Given the description of an element on the screen output the (x, y) to click on. 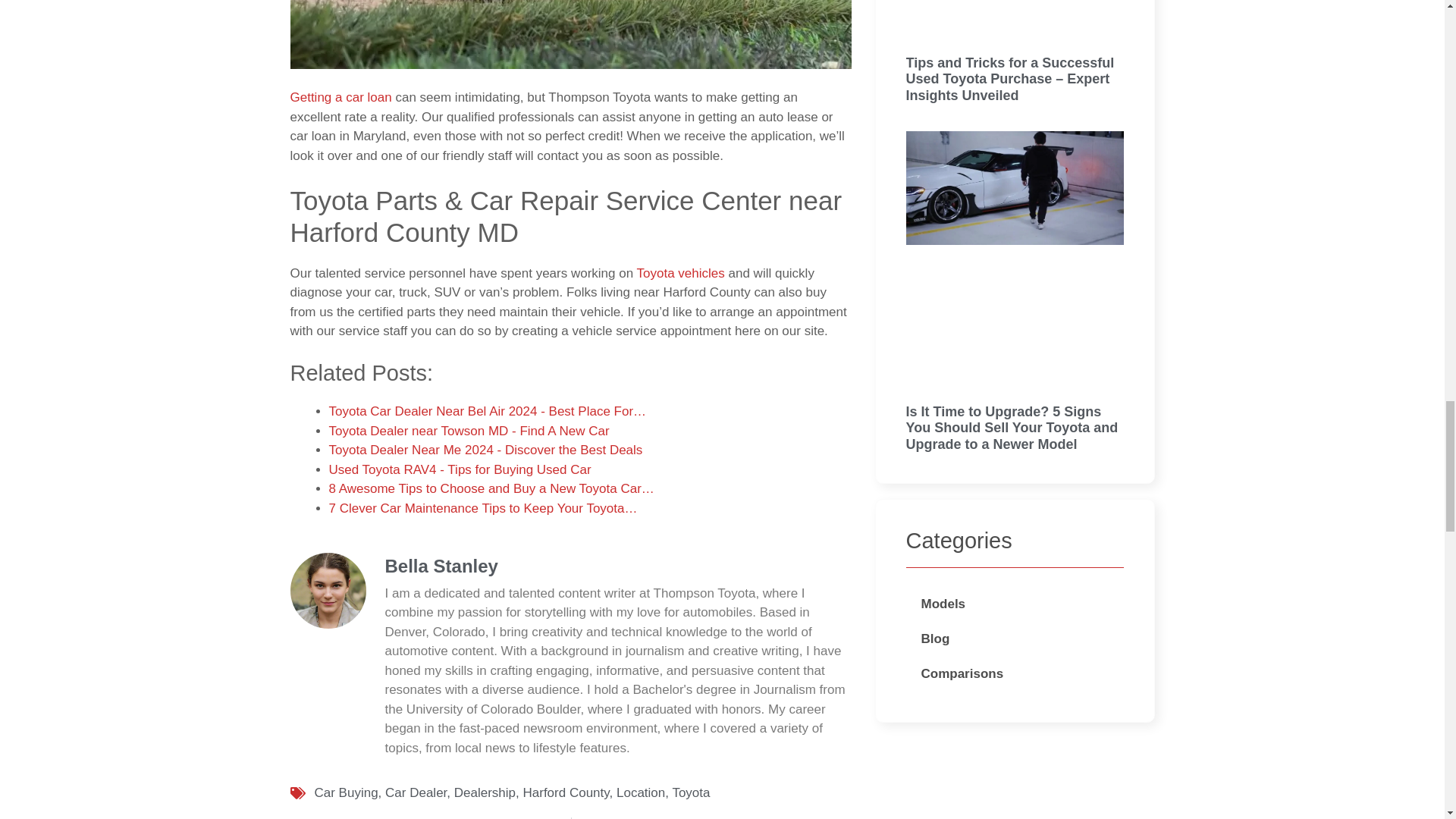
Location (640, 792)
Car Dealer (415, 792)
Toyota (690, 792)
Used Toyota RAV4 - Tips for Buying Used Car (460, 469)
Car Buying (345, 792)
Toyota Dealer near Towson MD - Find A New Car (469, 431)
Dealership (484, 792)
Harford County (566, 792)
Toyota vehicles (681, 273)
